Given the description of an element on the screen output the (x, y) to click on. 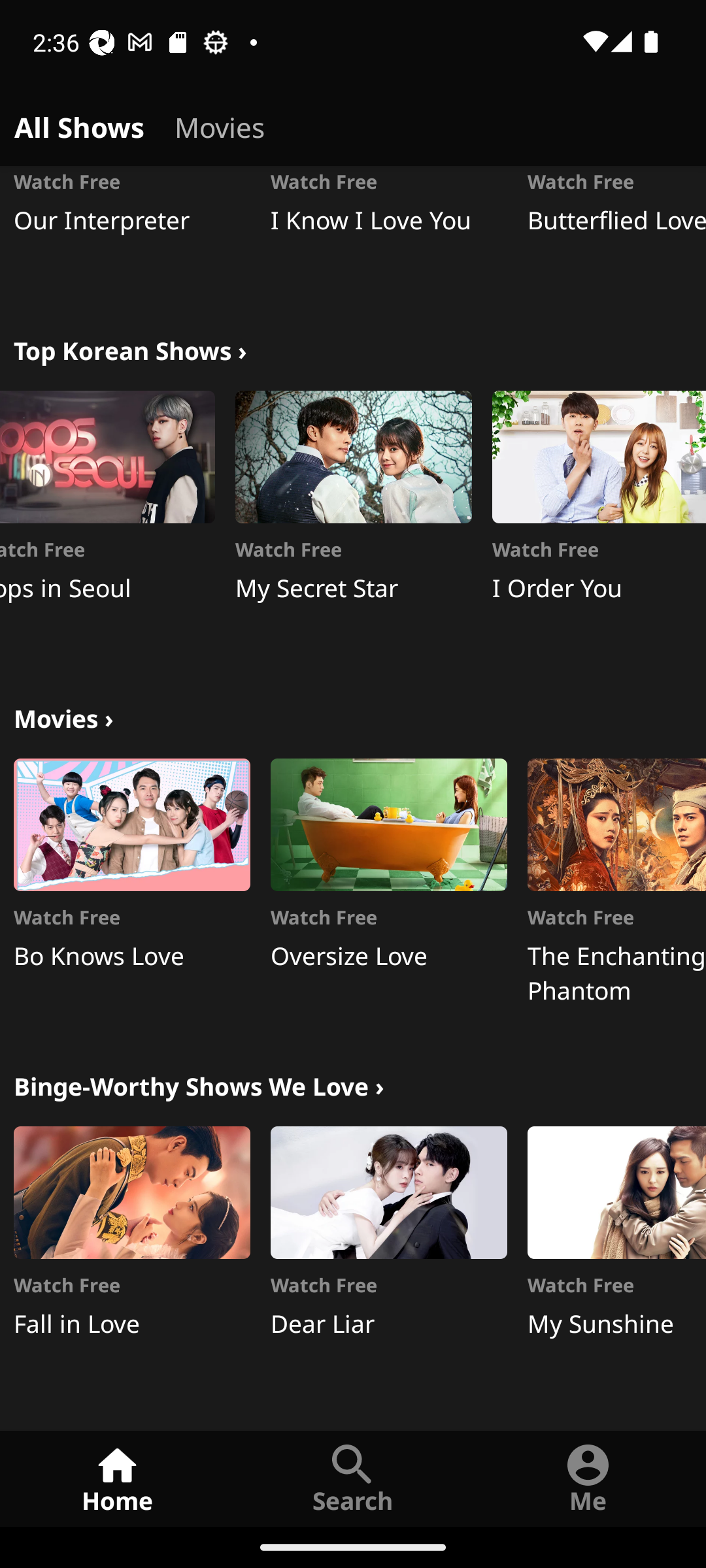
home_tab_movies Movies (219, 124)
resource_cell Watch Free Our Interpreter (131, 232)
resource_cell Watch Free I Know I Love You (388, 232)
resource_cell Watch Free Butterflied Lover (616, 232)
Top Korean Shows › korean_trending (130, 348)
Movies › movies_new (63, 715)
Binge-Worthy Shows We Love › 2652995l_collection (198, 1084)
Search (352, 1478)
Me (588, 1478)
